Given the description of an element on the screen output the (x, y) to click on. 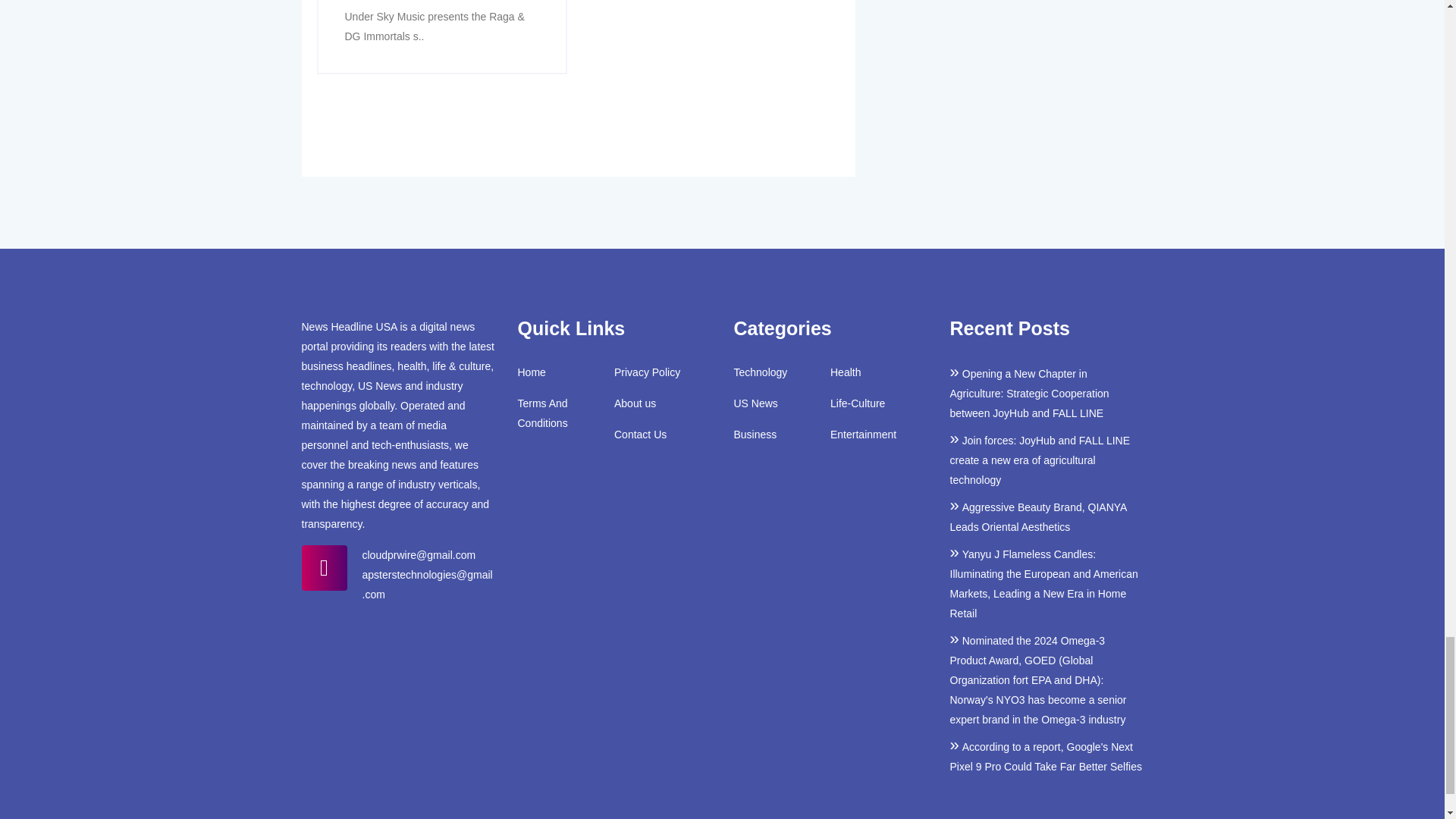
Home (530, 372)
